Given the description of an element on the screen output the (x, y) to click on. 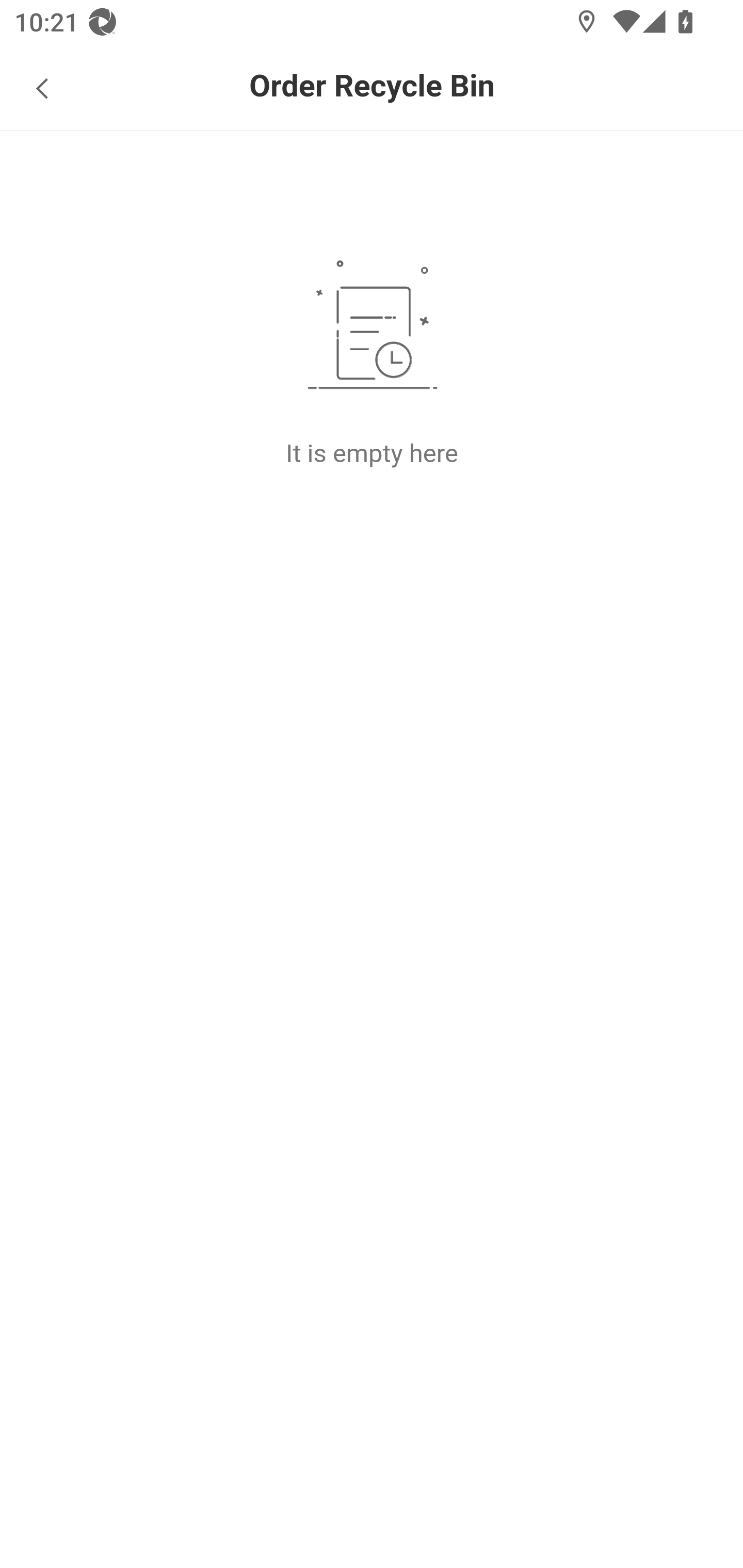
 (42, 85)
